Given the description of an element on the screen output the (x, y) to click on. 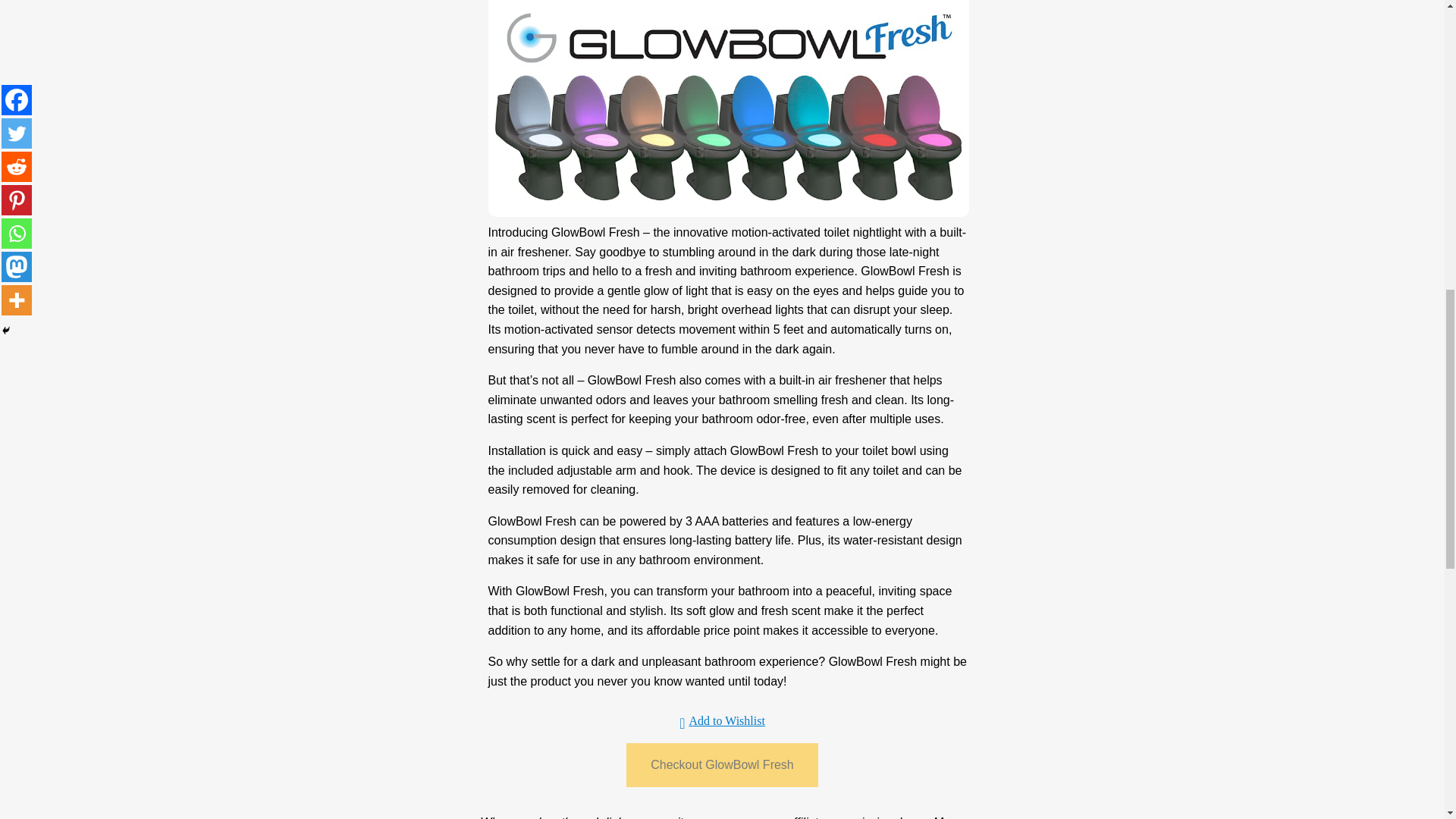
Add to Wishlist (722, 721)
Learn More (929, 817)
Checkout GlowBowl Fresh (722, 764)
